Given the description of an element on the screen output the (x, y) to click on. 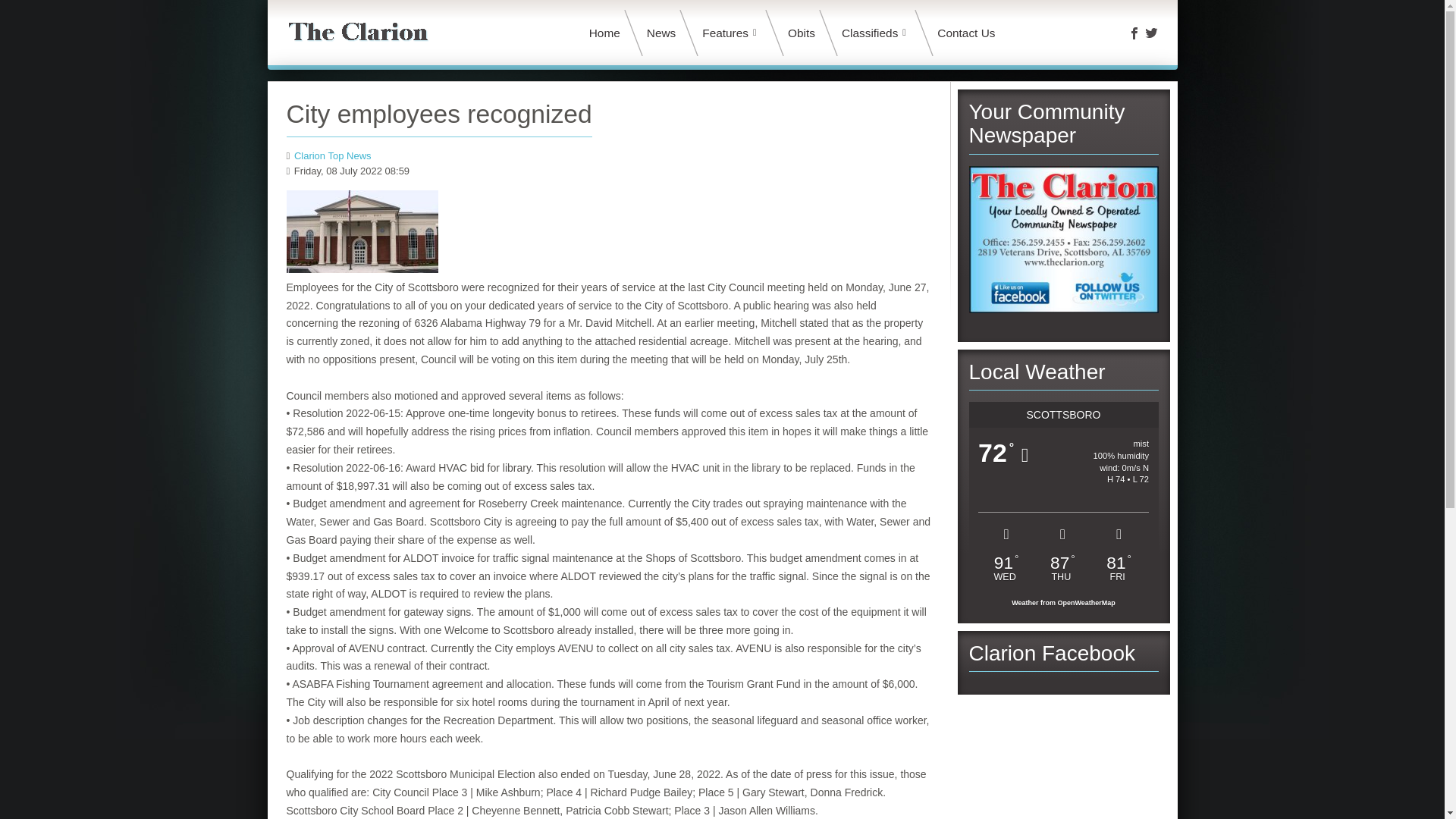
Contact Us (969, 32)
Classifieds (876, 32)
Clarion Top News (332, 155)
Features (731, 32)
